Given the description of an element on the screen output the (x, y) to click on. 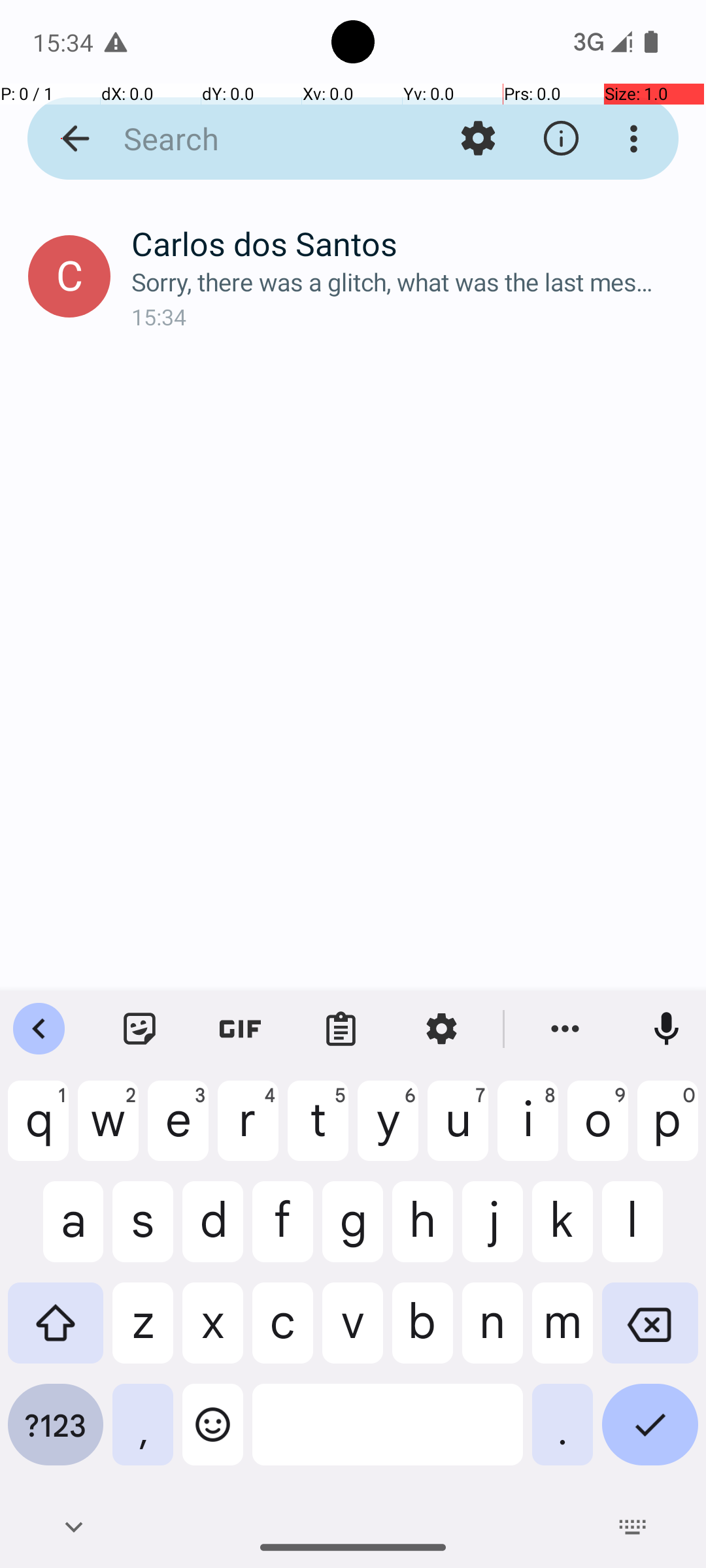
Carlos dos Santos Element type: android.widget.TextView (408, 242)
Sorry, there was a glitch, what was the last message you sent me? Element type: android.widget.TextView (408, 281)
